Given the description of an element on the screen output the (x, y) to click on. 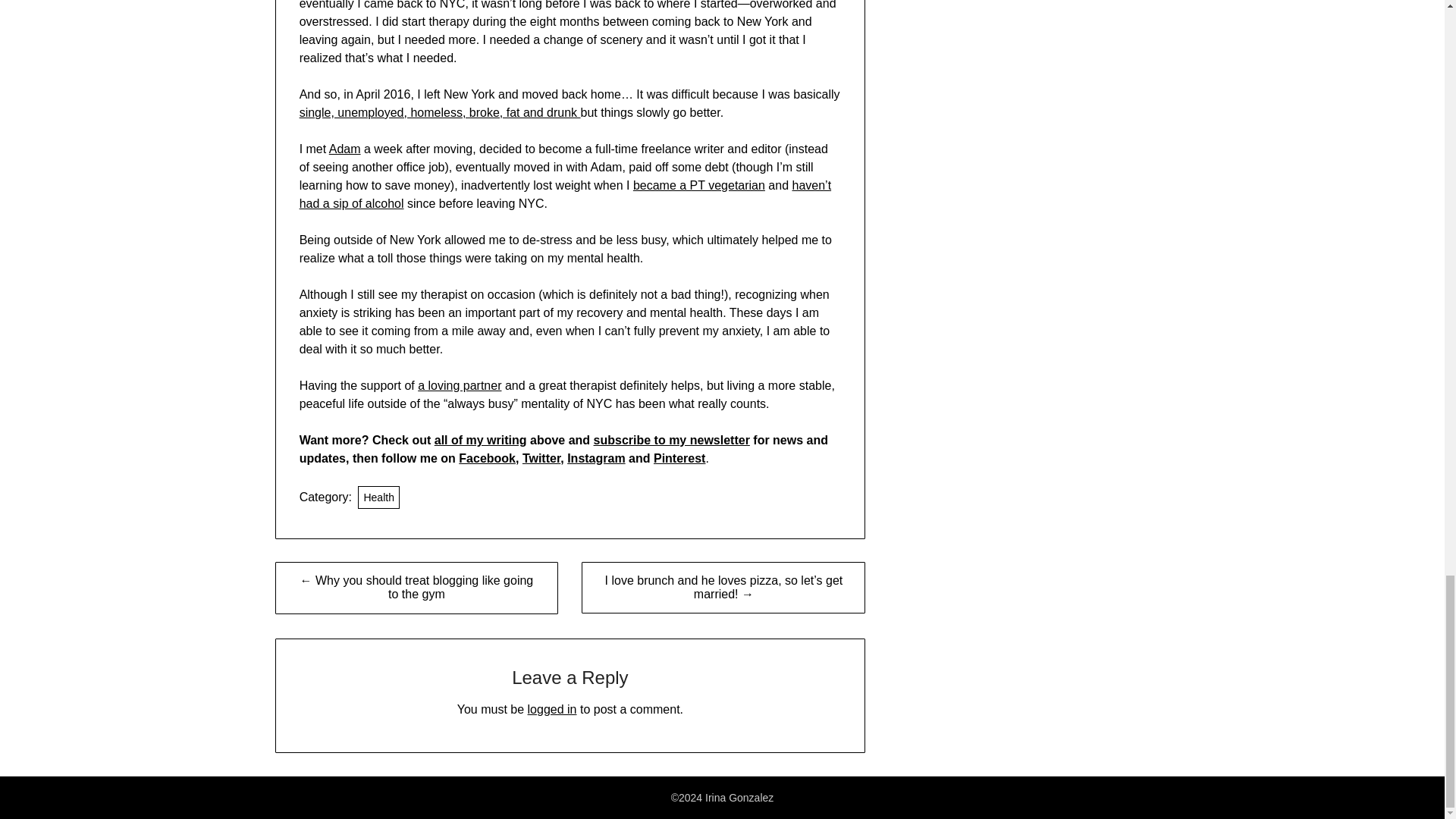
subscribe to my newsletter (671, 440)
Adam (345, 148)
Facebook (486, 458)
Twitter (541, 458)
single, unemployed, homeless, broke, fat and drunk (439, 112)
Pinterest (678, 458)
a loving partner (458, 385)
all of my writing (480, 440)
became a PT vegetarian (699, 185)
Health (378, 497)
